Given the description of an element on the screen output the (x, y) to click on. 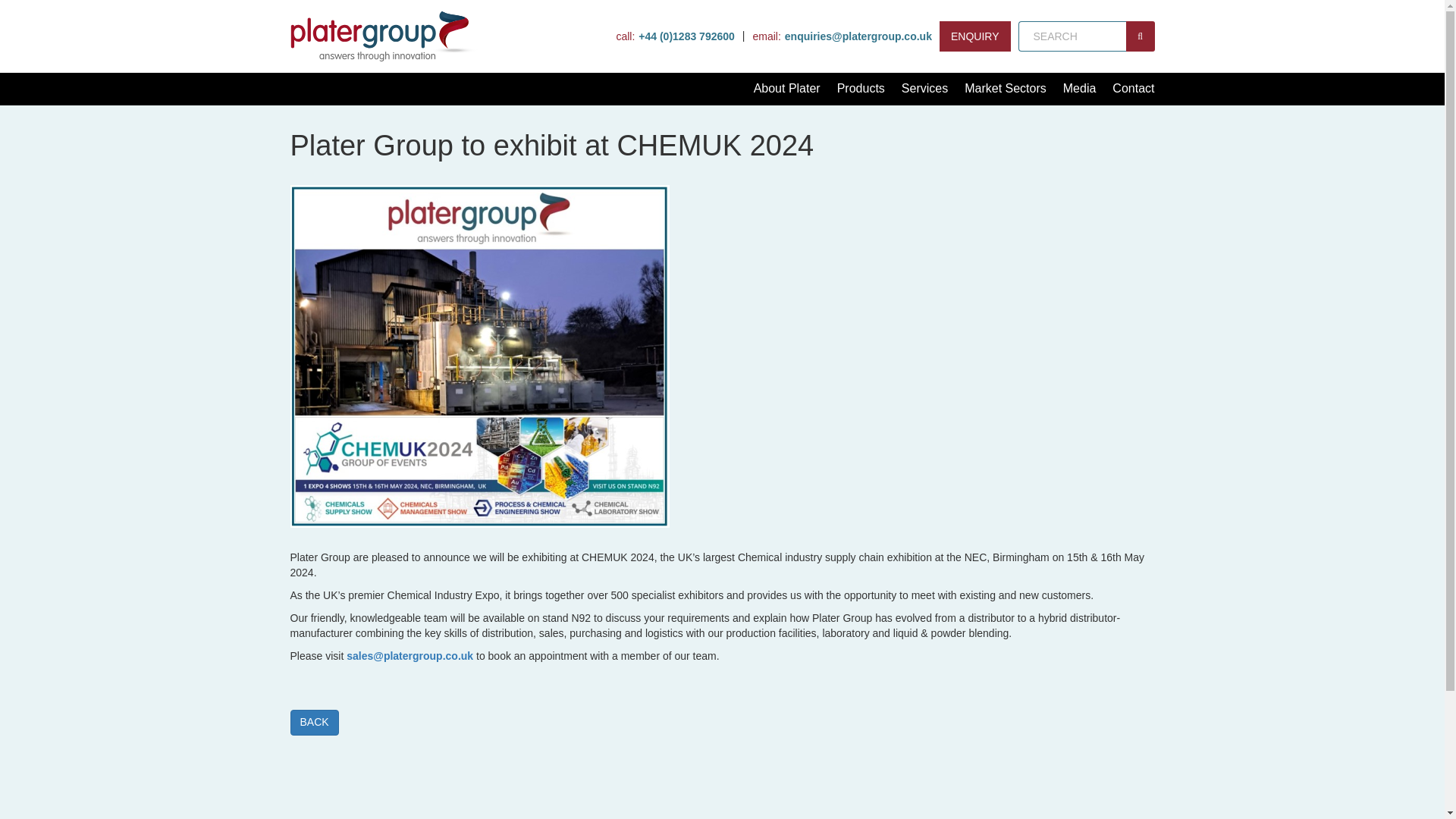
ENQUIRY (974, 36)
About Plater (786, 88)
Plater Group to exhibit at CHEMUK 2024 (478, 356)
